Given the description of an element on the screen output the (x, y) to click on. 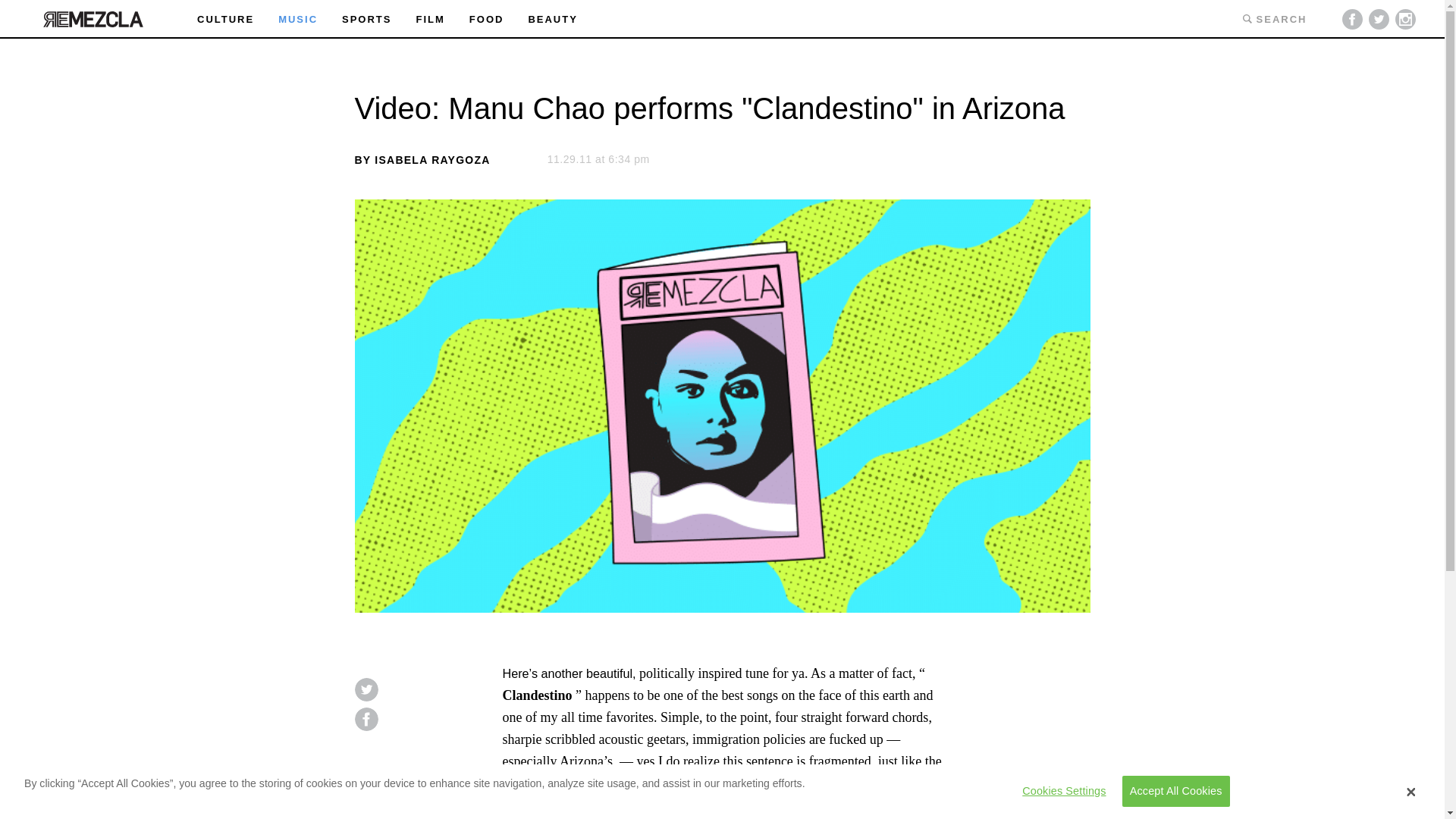
CULTURE (224, 19)
FOOD (485, 19)
BY ISABELA RAYGOZA (422, 160)
BEAUTY (551, 19)
MUSIC (297, 19)
SPORTS (366, 19)
SEARCH (1274, 18)
